Given the description of an element on the screen output the (x, y) to click on. 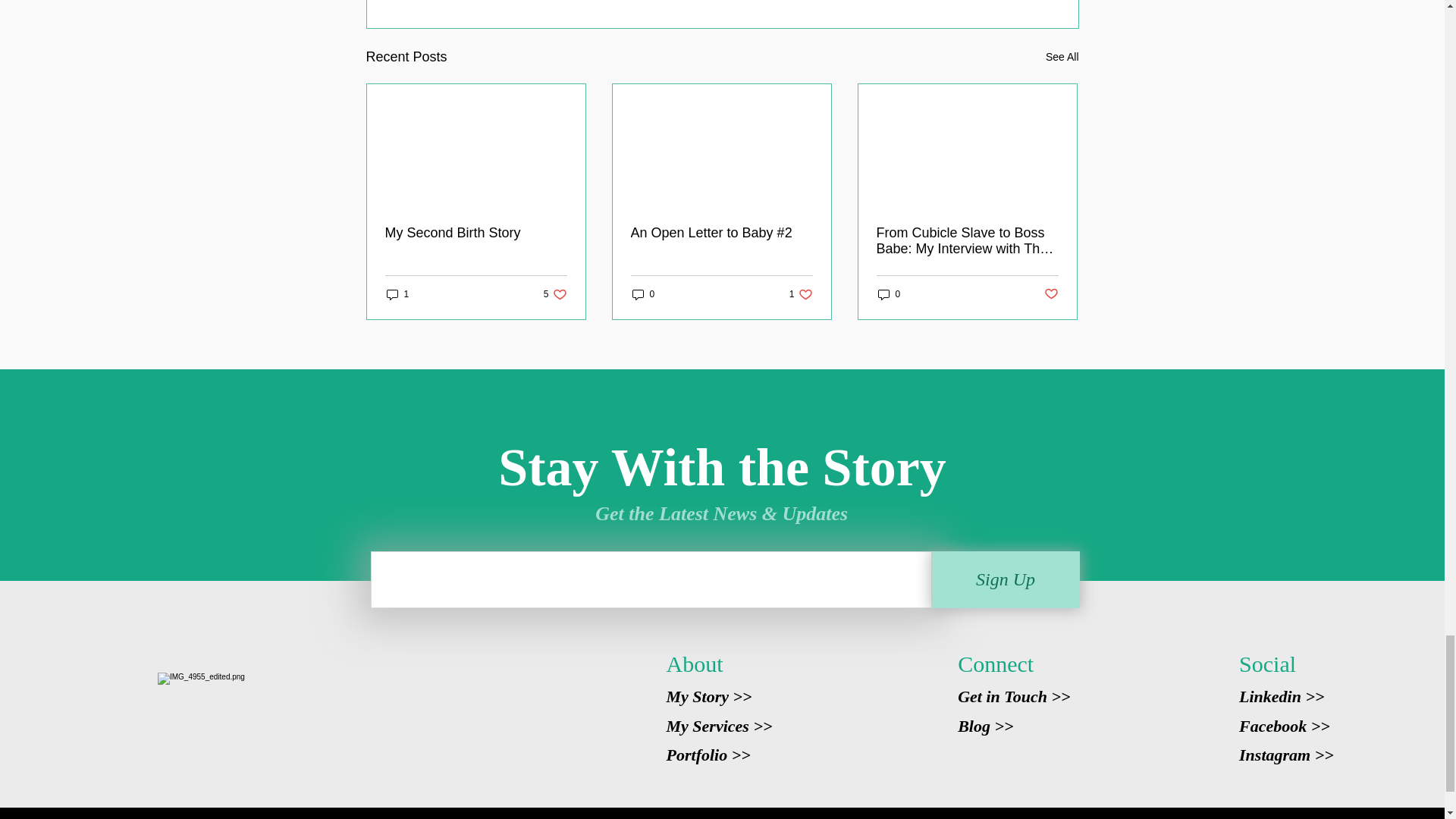
See All (1061, 56)
